Given the description of an element on the screen output the (x, y) to click on. 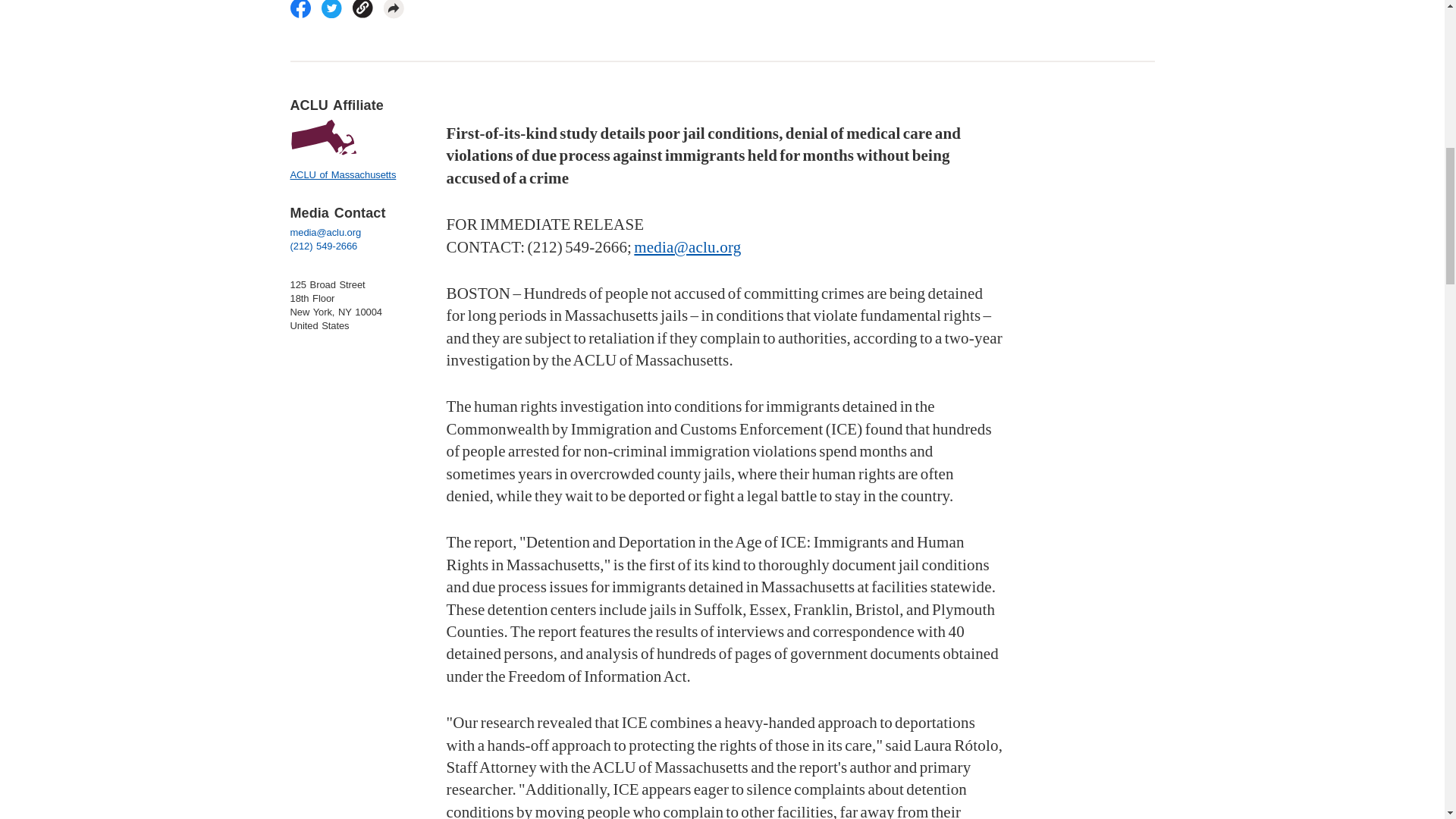
Copy (362, 9)
Share on Facebook (299, 9)
Tweet (331, 9)
